Given the description of an element on the screen output the (x, y) to click on. 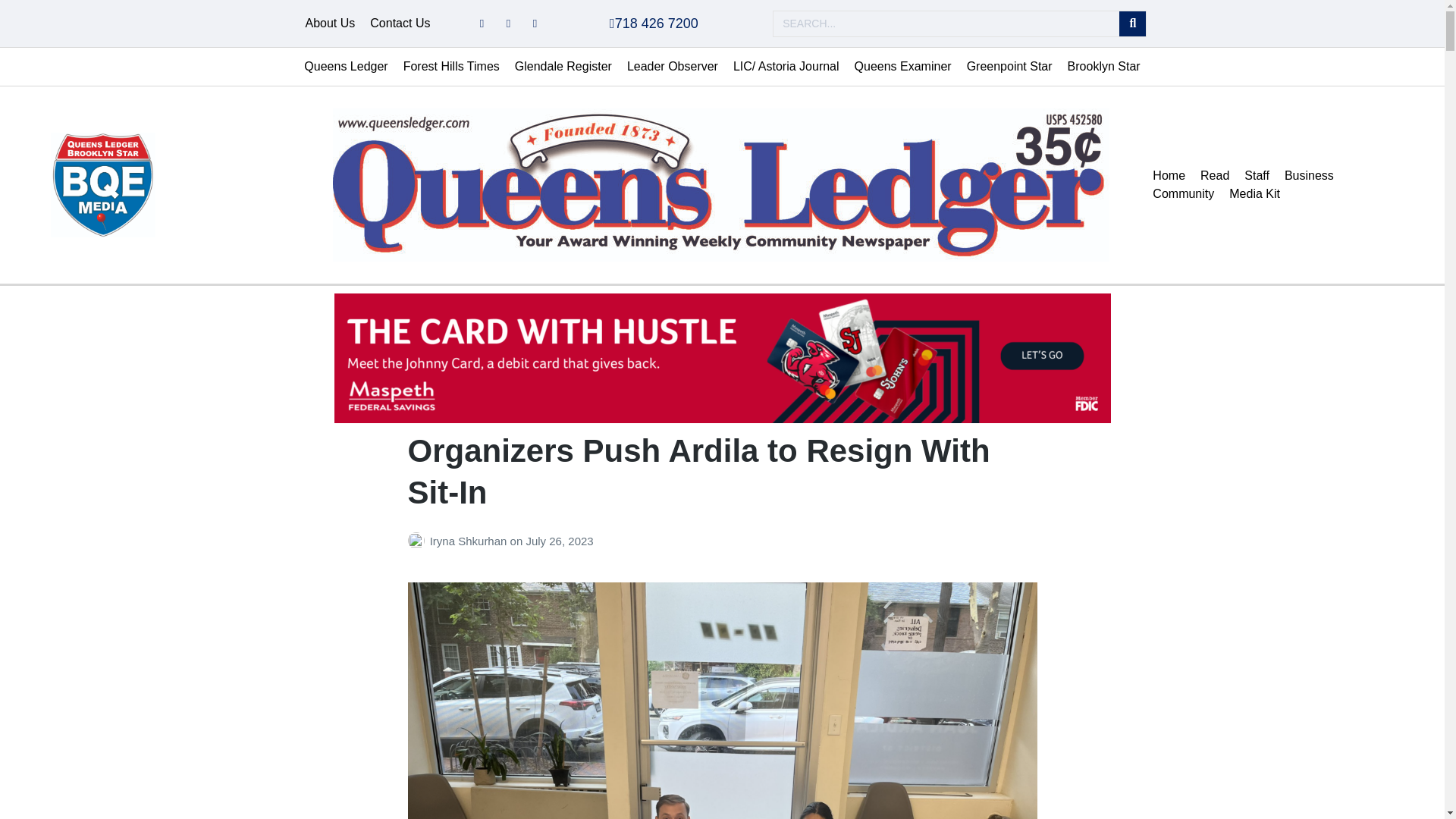
About Us (329, 23)
718 426 7200 (653, 23)
Home (1168, 176)
Queens Ledger (345, 66)
Leader Observer (672, 66)
Glendale Register (563, 66)
Greenpoint Star (1009, 66)
Read (1214, 176)
Forest Hills Times (451, 66)
Posts by Iryna Shkurhan (418, 540)
Queens Examiner (903, 66)
Brooklyn Star (1103, 66)
Contact Us (400, 23)
